Given the description of an element on the screen output the (x, y) to click on. 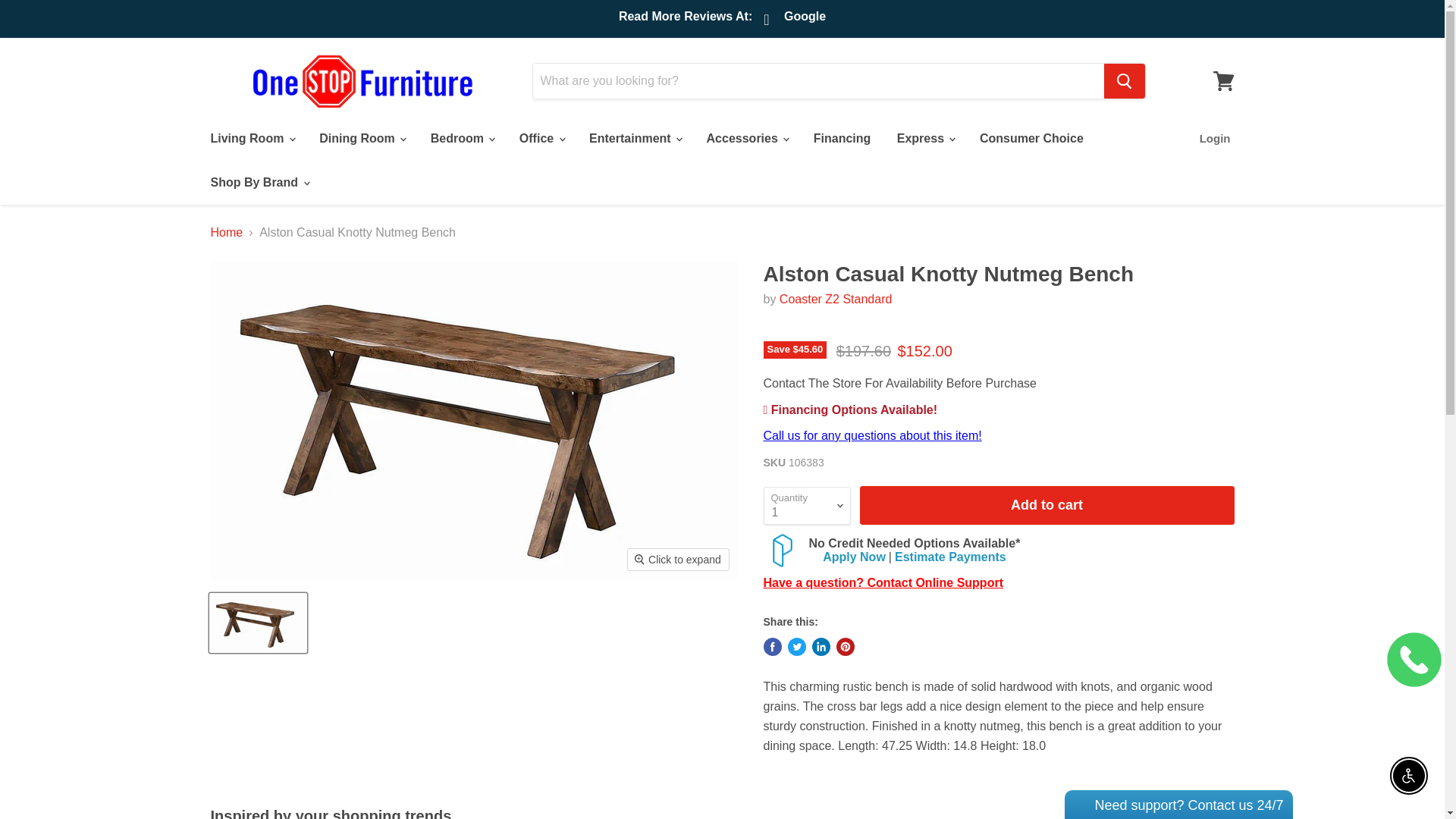
Google (796, 20)
Coaster Z2 Standard (835, 298)
View cart (1223, 80)
Read More Reviews At: (685, 18)
Dining Room (360, 138)
Living Room (251, 138)
Bedroom (462, 138)
